Given the description of an element on the screen output the (x, y) to click on. 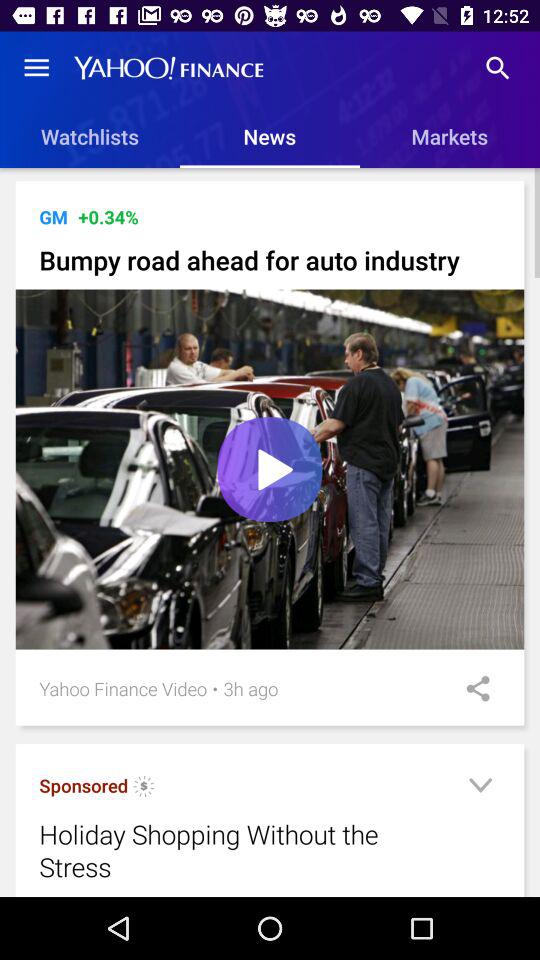
turn on 3h ago item (250, 688)
